Given the description of an element on the screen output the (x, y) to click on. 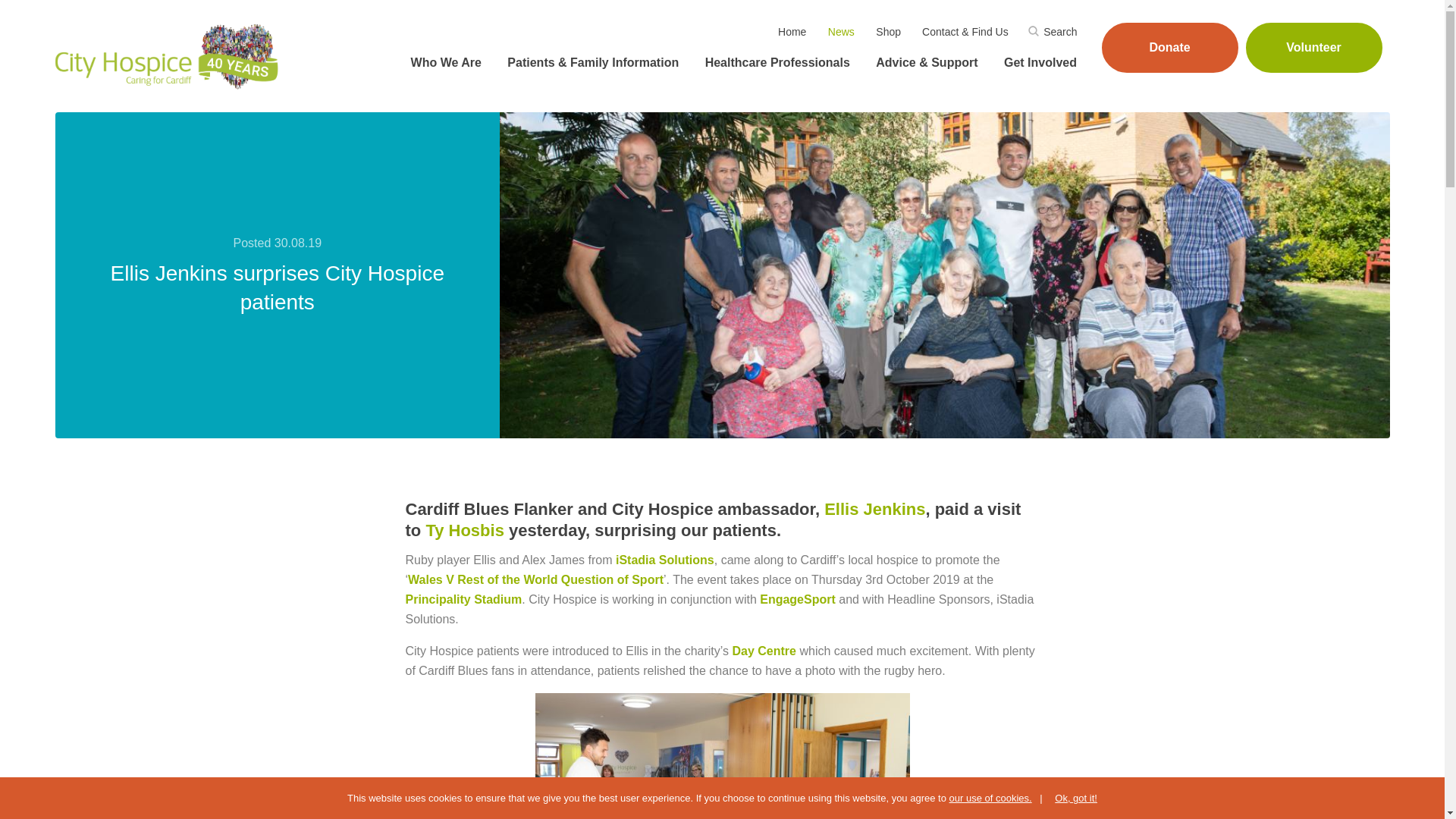
Ok, got it! (1068, 797)
City Hospice (168, 55)
Who We Are (443, 62)
Donate (1168, 47)
Volunteer (1312, 47)
our use of cookies. (990, 797)
